Given the description of an element on the screen output the (x, y) to click on. 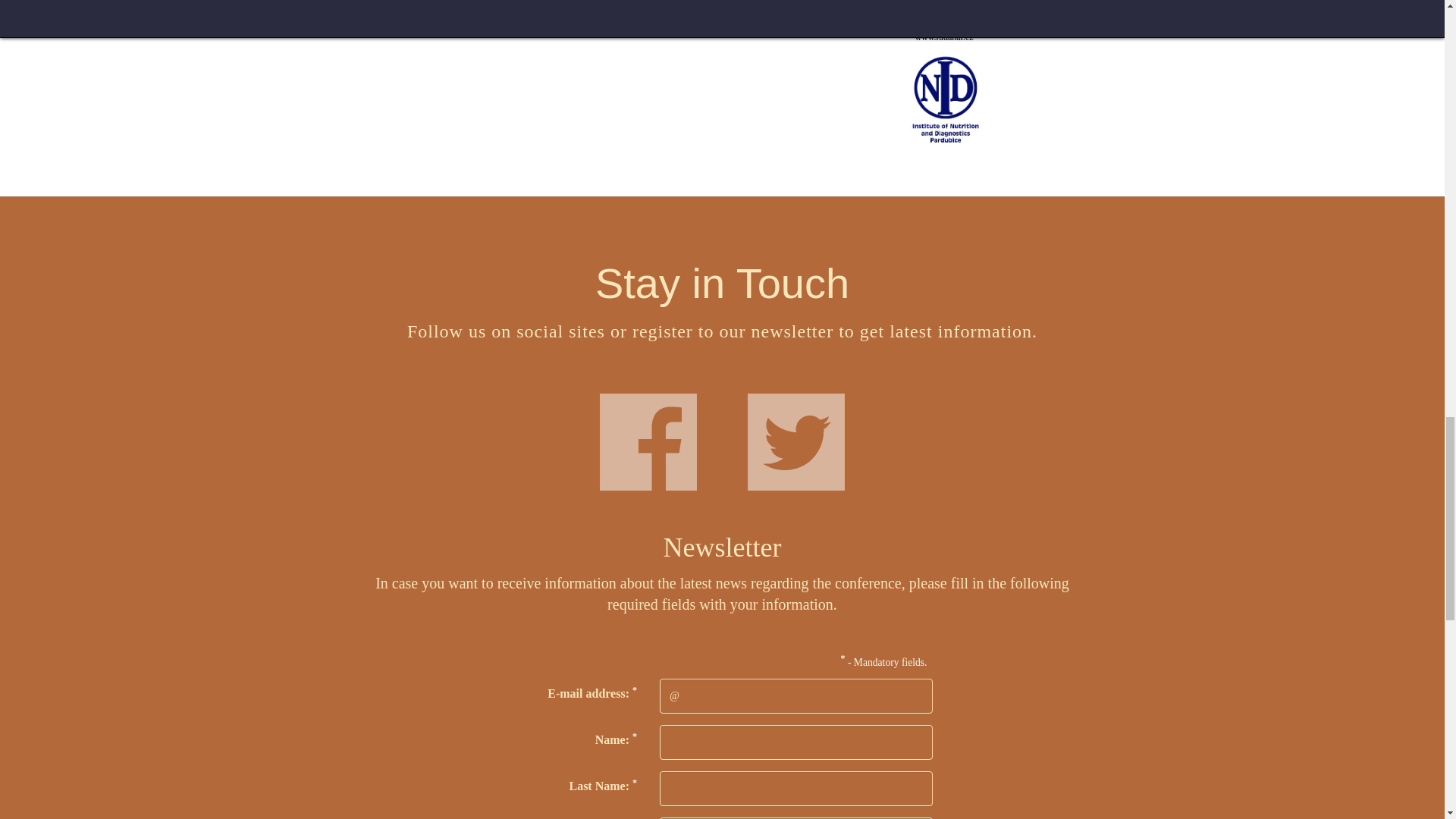
INDC on Facebook (647, 441)
